Given the description of an element on the screen output the (x, y) to click on. 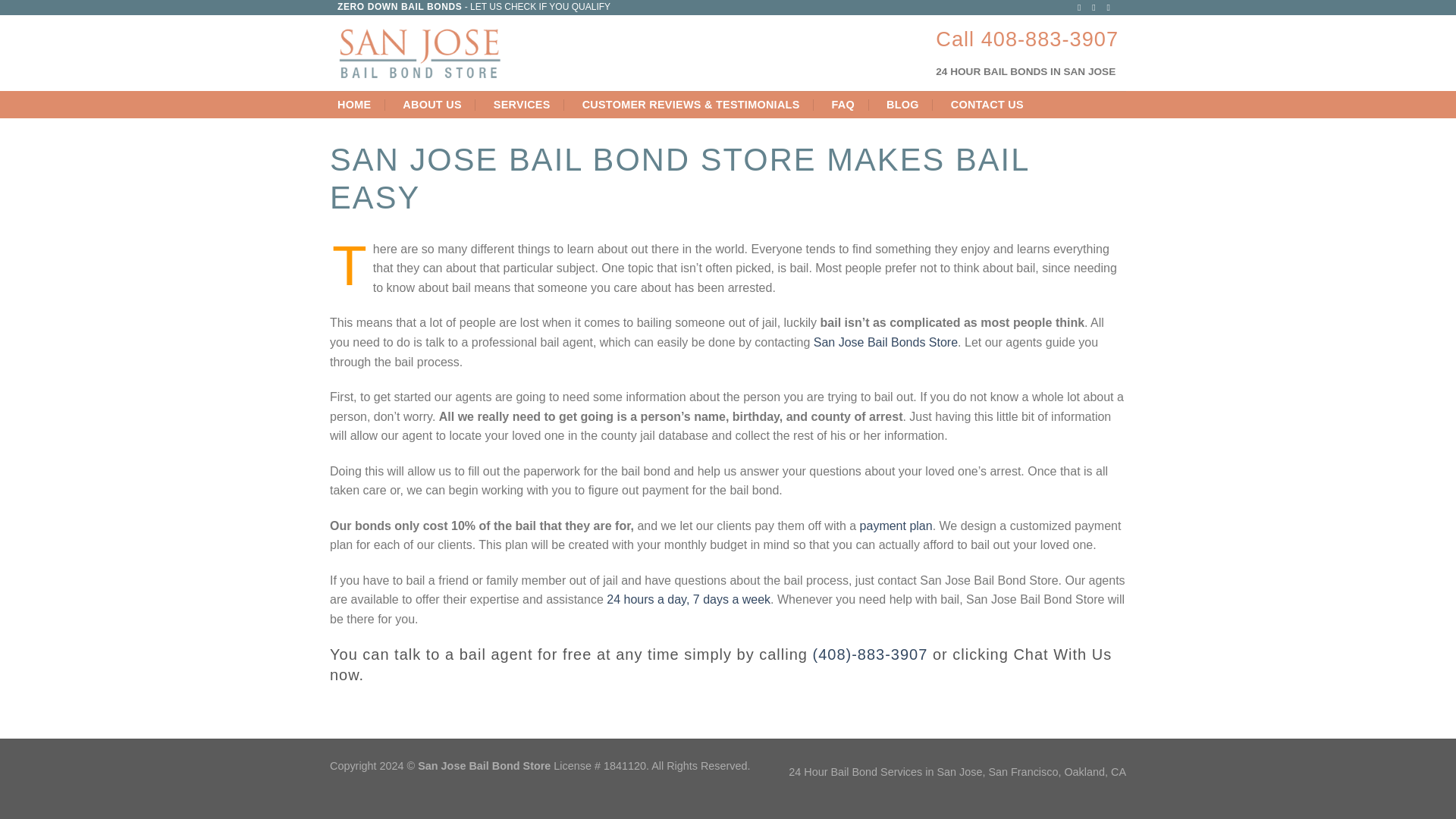
SERVICES (521, 103)
San Jose Bail Bonds Store (885, 341)
24 hours a day, 7 days a week (688, 599)
HOME (354, 103)
CONTACT US (986, 103)
BLOG (902, 103)
ABOUT US (432, 103)
payment plan (896, 525)
